Given the description of an element on the screen output the (x, y) to click on. 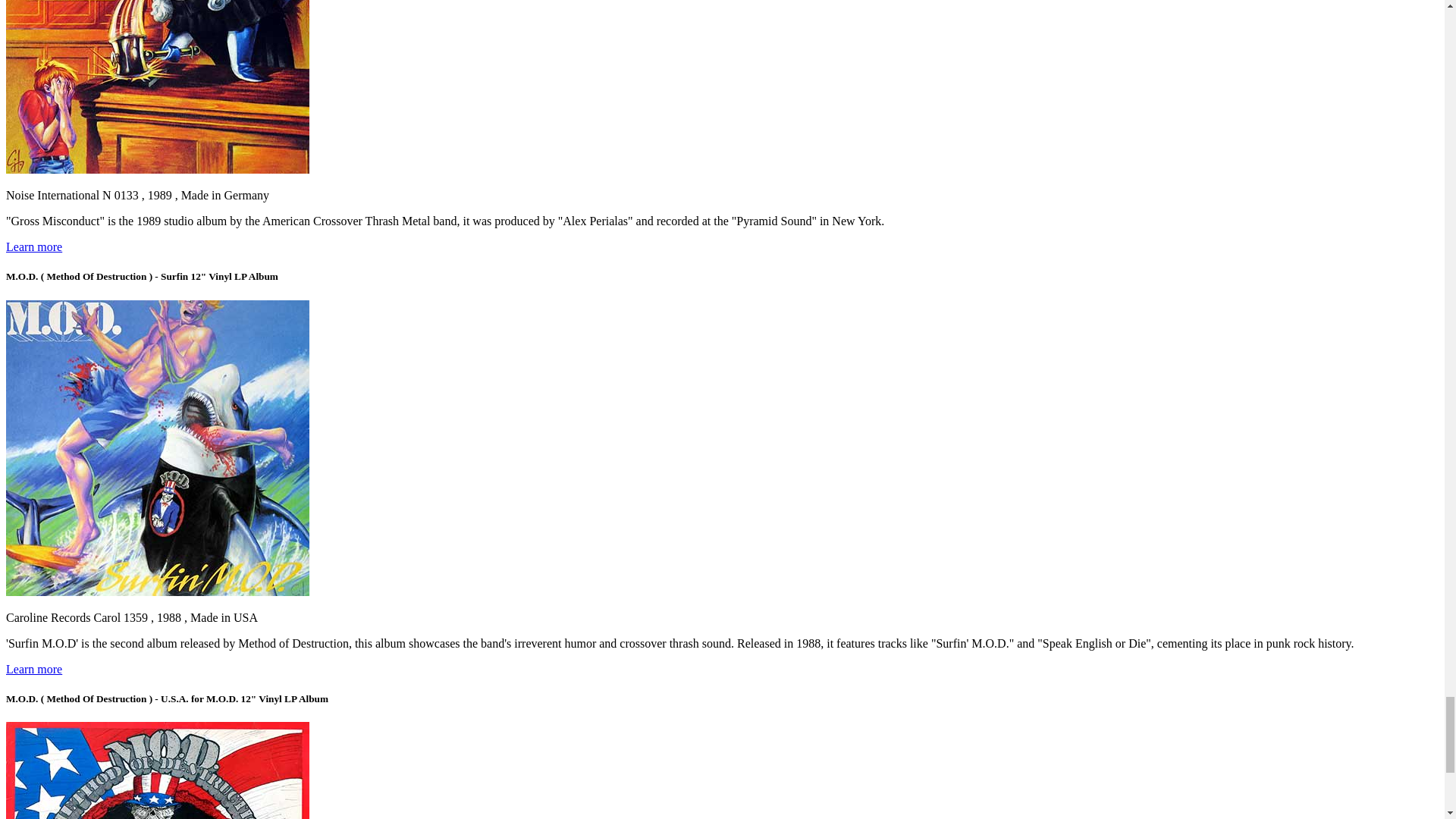
Learn more (33, 668)
Learn more (33, 246)
